Given the description of an element on the screen output the (x, y) to click on. 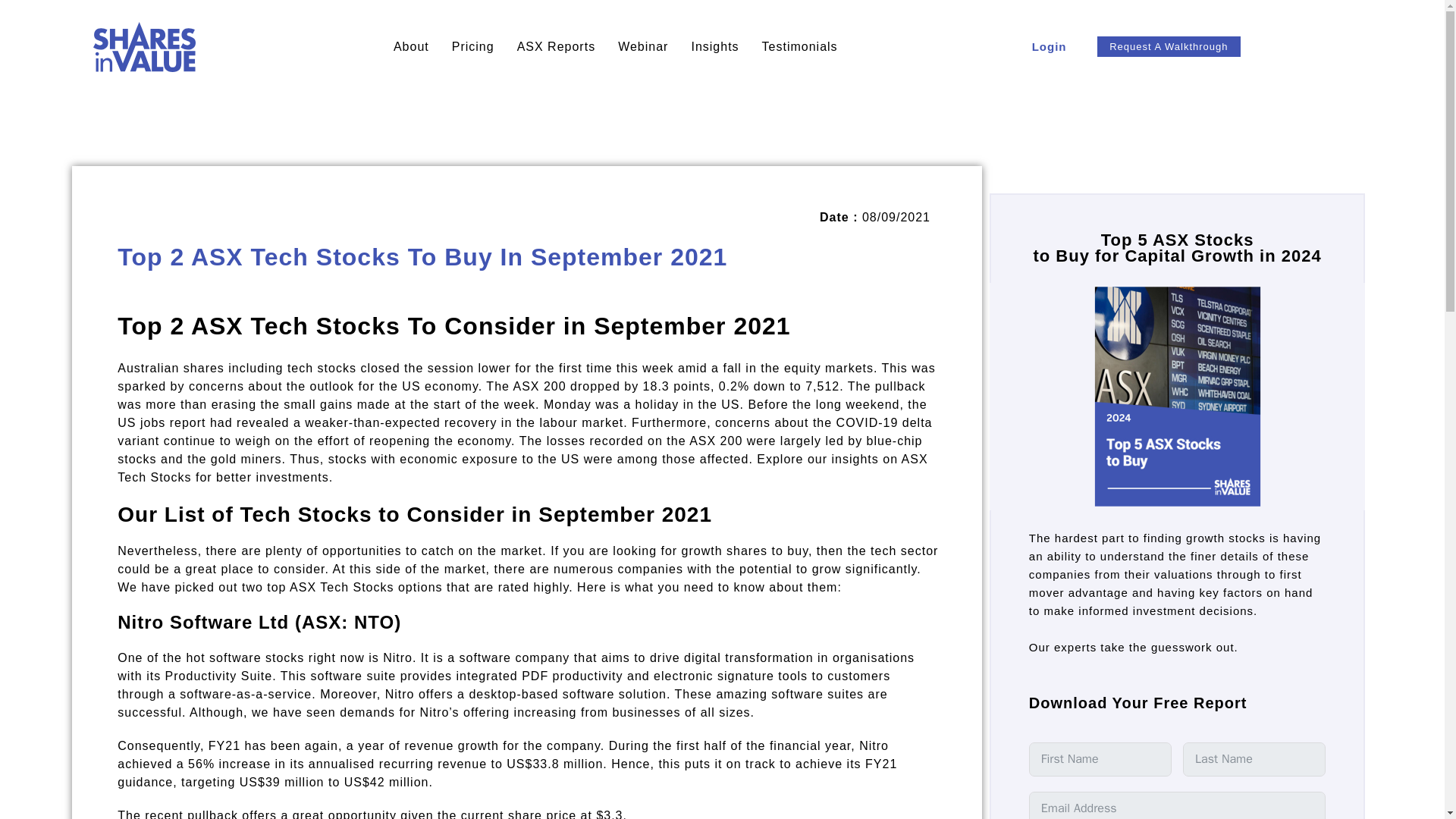
ASX Reports (556, 46)
Request A Walkthrough (1168, 46)
Pricing (473, 46)
Login (1048, 46)
About (411, 46)
Testimonials (799, 46)
Webinar (643, 46)
Insights (714, 46)
